Given the description of an element on the screen output the (x, y) to click on. 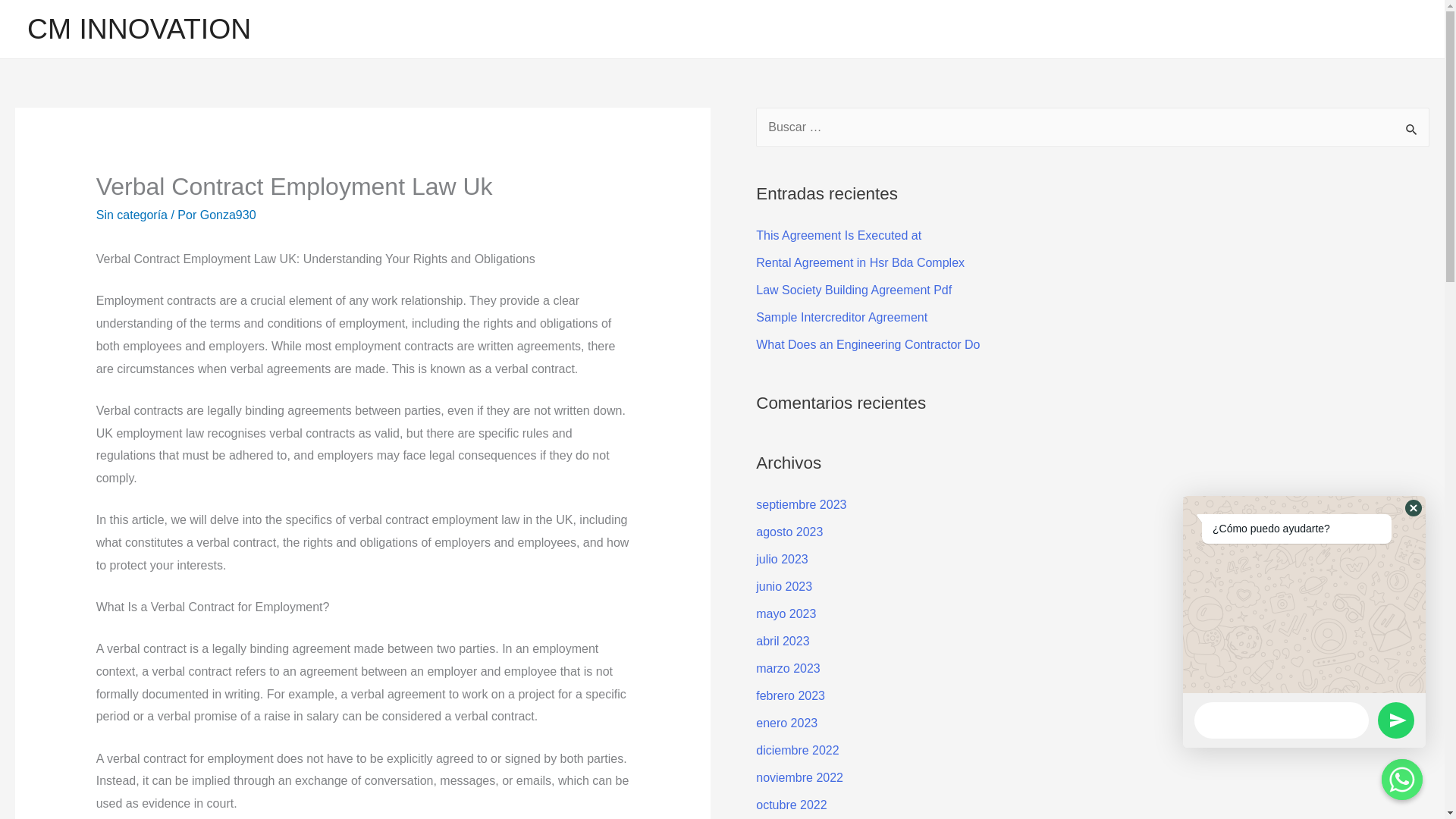
septiembre 2023 (800, 504)
febrero 2023 (790, 695)
CM INNOVATION (138, 29)
abril 2023 (782, 640)
mayo 2023 (785, 613)
agosto 2023 (788, 531)
marzo 2023 (788, 667)
Law Society Building Agreement Pdf (853, 289)
What Does an Engineering Contractor Do (867, 344)
Sample Intercreditor Agreement (841, 317)
enero 2023 (785, 722)
Ver todas las entradas de Gonza930 (228, 214)
junio 2023 (783, 585)
Rental Agreement in Hsr Bda Complex (859, 262)
Gonza930 (228, 214)
